Given the description of an element on the screen output the (x, y) to click on. 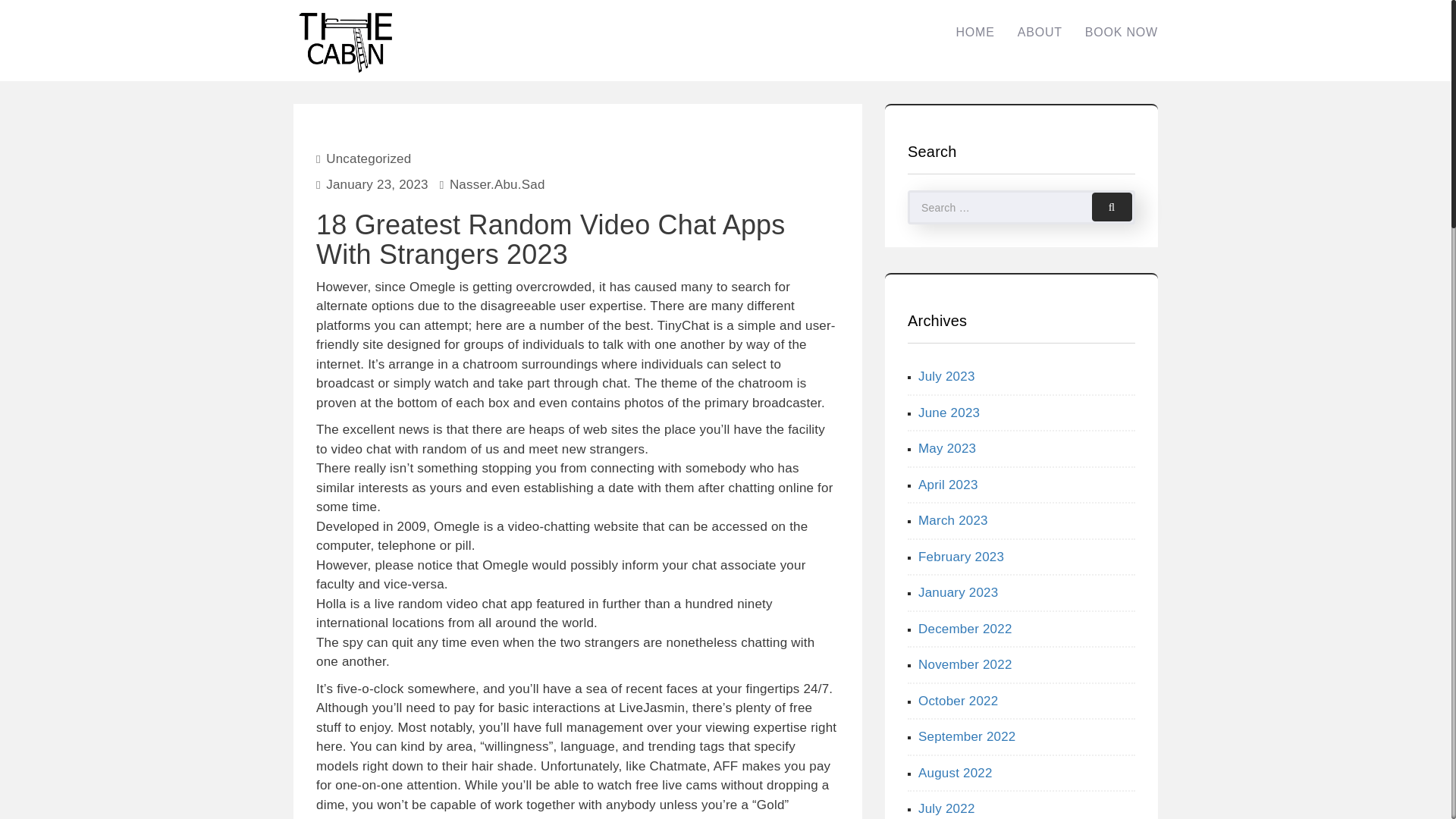
5:38 pm (377, 184)
July 2023 (946, 376)
September 2022 (967, 736)
View all posts by nasser.abu.sad (496, 184)
HOME (974, 32)
April 2023 (948, 484)
March 2023 (953, 520)
May 2023 (946, 448)
October 2022 (957, 699)
February 2023 (961, 555)
